Given the description of an element on the screen output the (x, y) to click on. 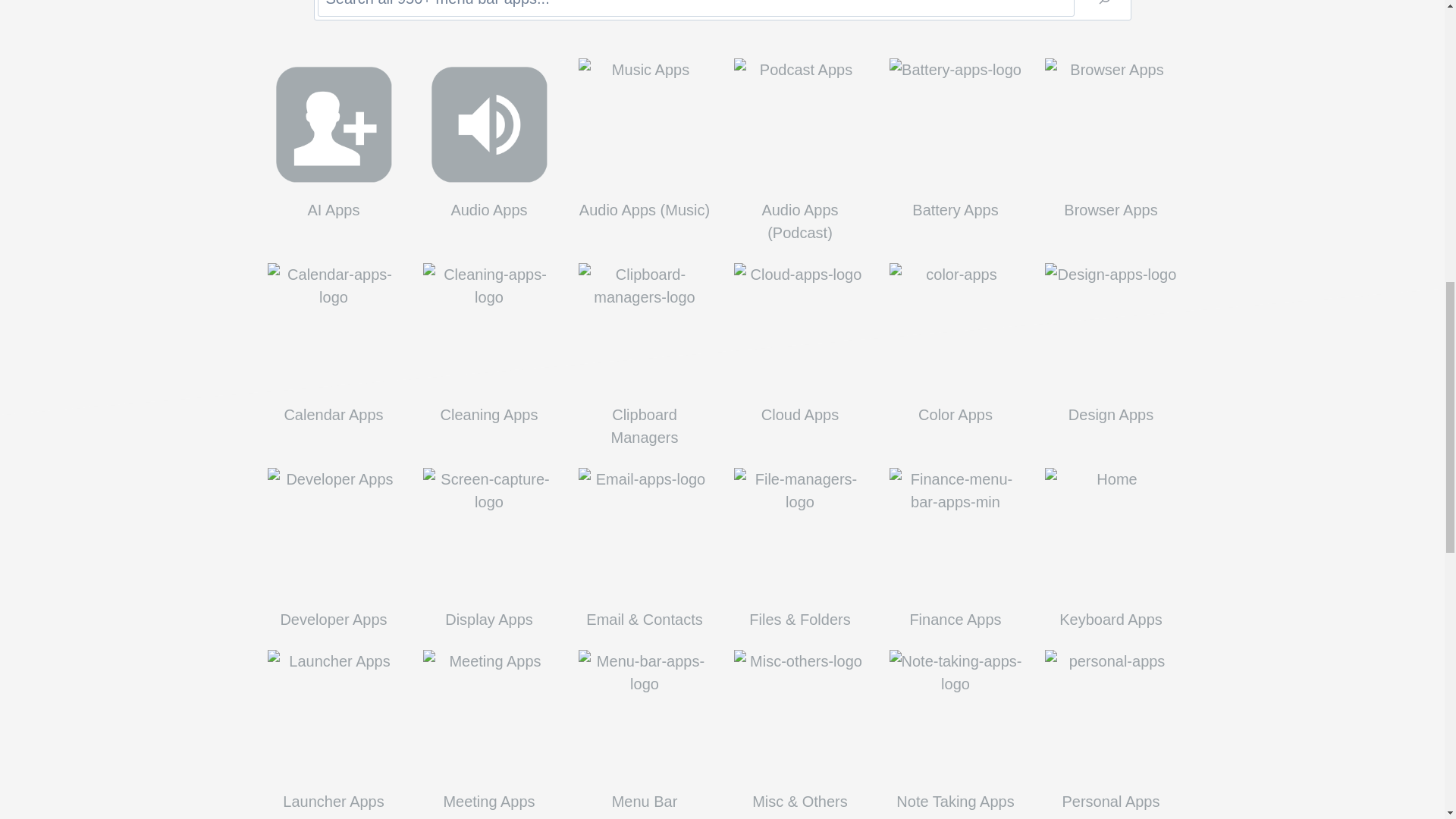
Audio Apps (489, 210)
Browser Apps (1111, 210)
Calendar Apps (332, 414)
AI Apps (332, 210)
Cleaning Apps (489, 414)
Color Apps (955, 414)
Battery Apps (955, 210)
Cloud Apps (799, 414)
Developer Apps (332, 619)
Clipboard Managers (644, 425)
